Given the description of an element on the screen output the (x, y) to click on. 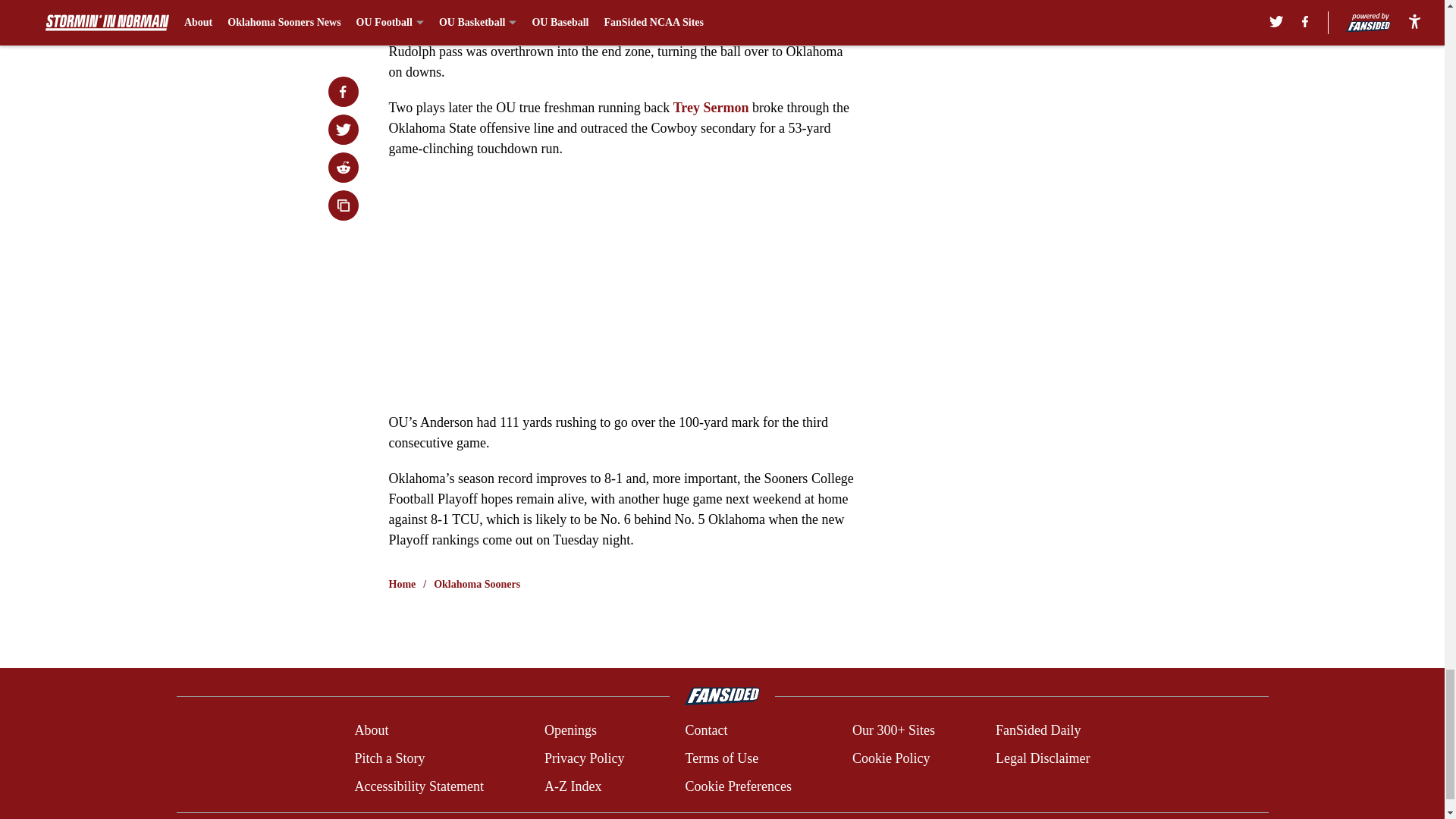
Openings (570, 730)
Home (401, 584)
Trey Sermon (712, 107)
Terms of Use (721, 758)
About (370, 730)
Oklahoma Sooners (476, 584)
Privacy Policy (584, 758)
Contact (705, 730)
FanSided Daily (1038, 730)
Pitch a Story (389, 758)
